Given the description of an element on the screen output the (x, y) to click on. 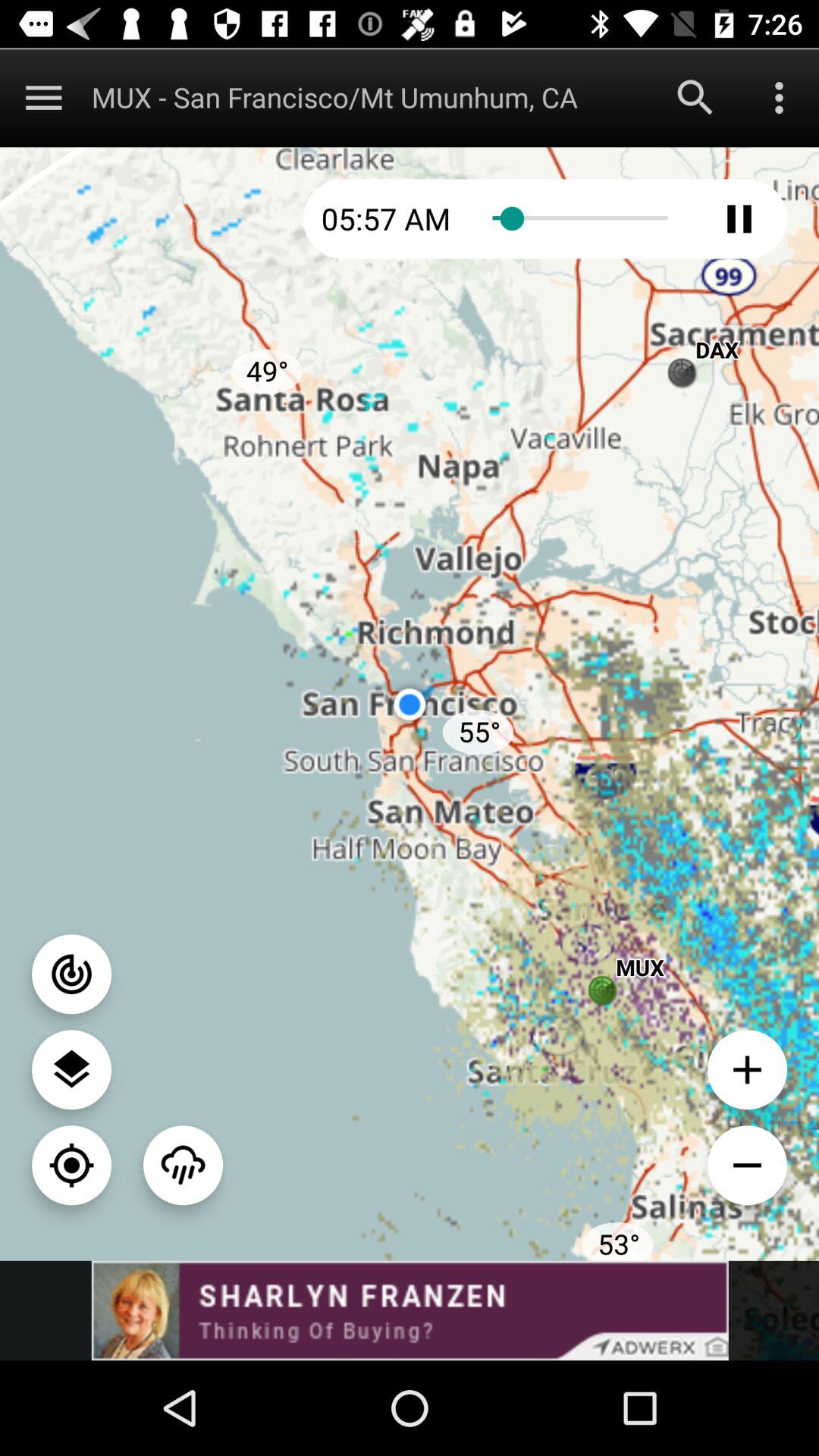
select advertisement (409, 1310)
